Given the description of an element on the screen output the (x, y) to click on. 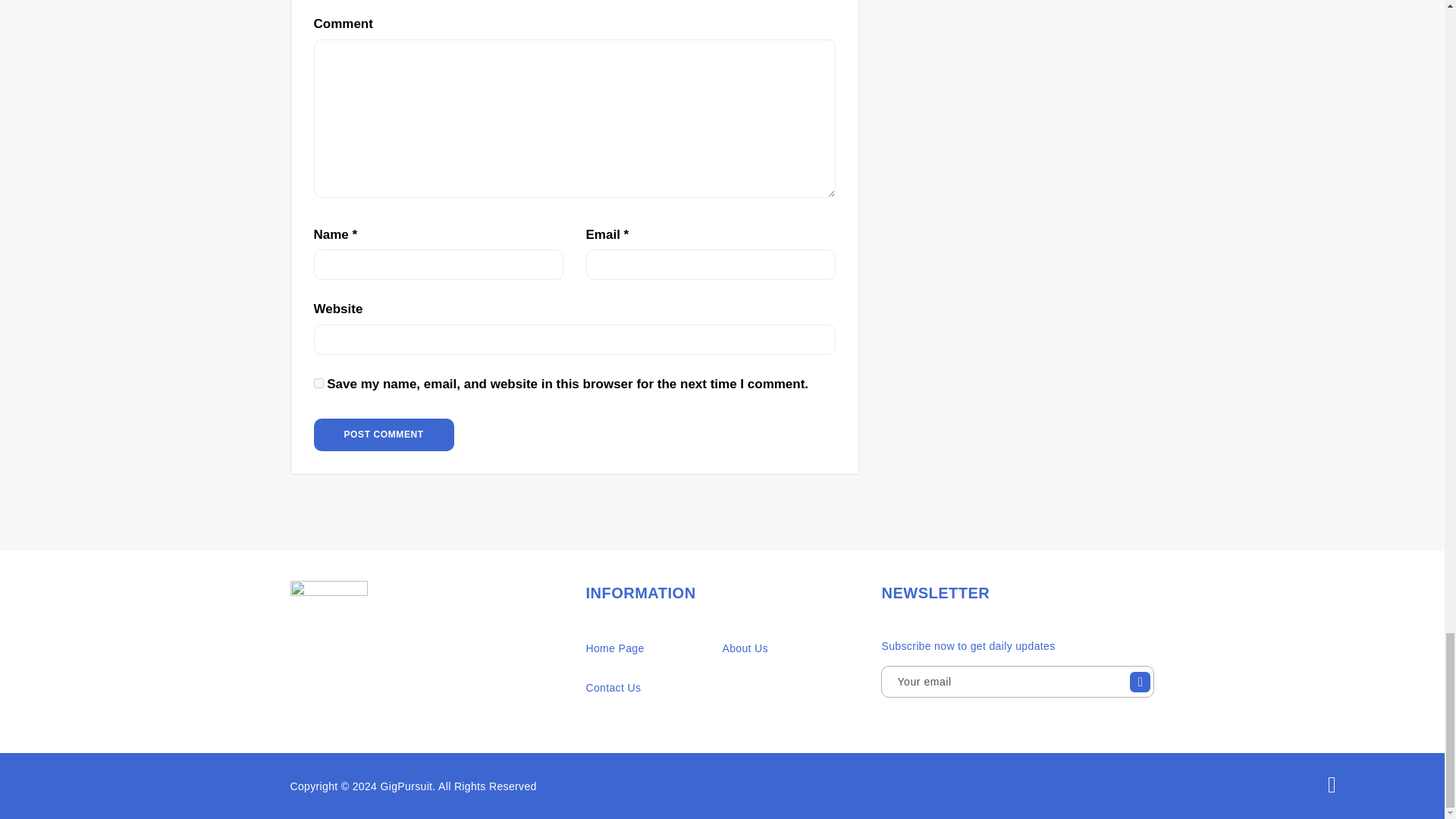
Contact Us (612, 687)
Sign up (1139, 685)
About Us (744, 648)
Post Comment (384, 434)
Post Comment (384, 434)
Back To Top (1332, 786)
yes (318, 383)
Home Page (614, 648)
